Given the description of an element on the screen output the (x, y) to click on. 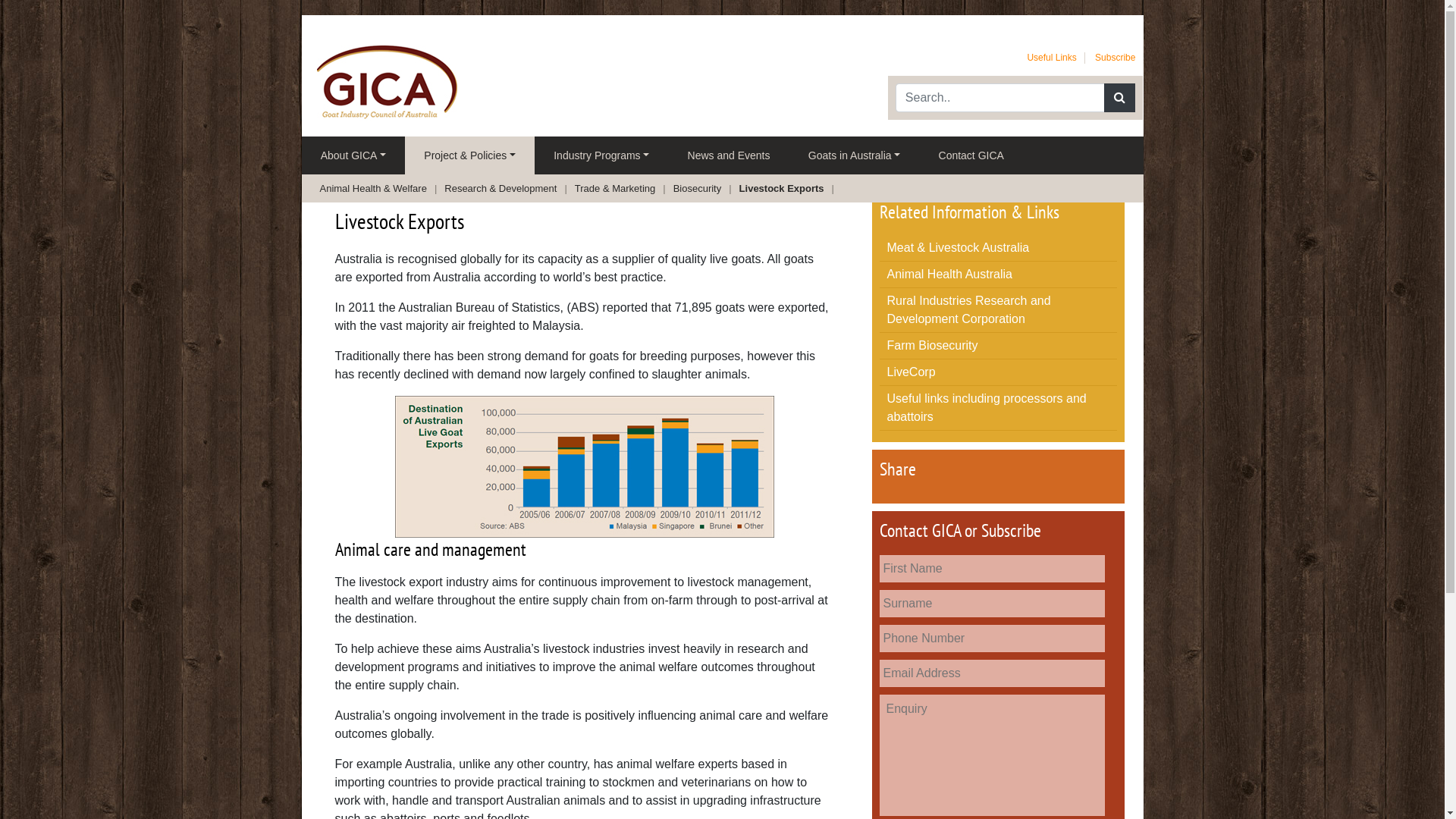
Biosecurity Element type: text (702, 188)
Meat & Livestock Australia Element type: text (958, 247)
Animal Health & Welfare Element type: text (377, 188)
Livestock Exports Element type: text (786, 188)
LiveCorp Element type: text (911, 371)
Project & Policies Element type: text (469, 155)
Animal Health Australia Element type: text (949, 273)
About GICA Element type: text (353, 155)
Trade & Marketing Element type: text (620, 188)
Contact GICA Element type: text (970, 155)
Goats in Australia Element type: text (854, 155)
Search Element type: text (1119, 97)
Industry Programs Element type: text (601, 155)
Useful links including processors and abattoirs Element type: text (986, 407)
News and Events Element type: text (728, 155)
Research & Development Element type: text (505, 188)
Rural Industries Research and Development Corporation Element type: text (969, 309)
Farm Biosecurity Element type: text (932, 344)
Useful Links Element type: text (1051, 57)
Subscribe Element type: text (1115, 57)
